Given the description of an element on the screen output the (x, y) to click on. 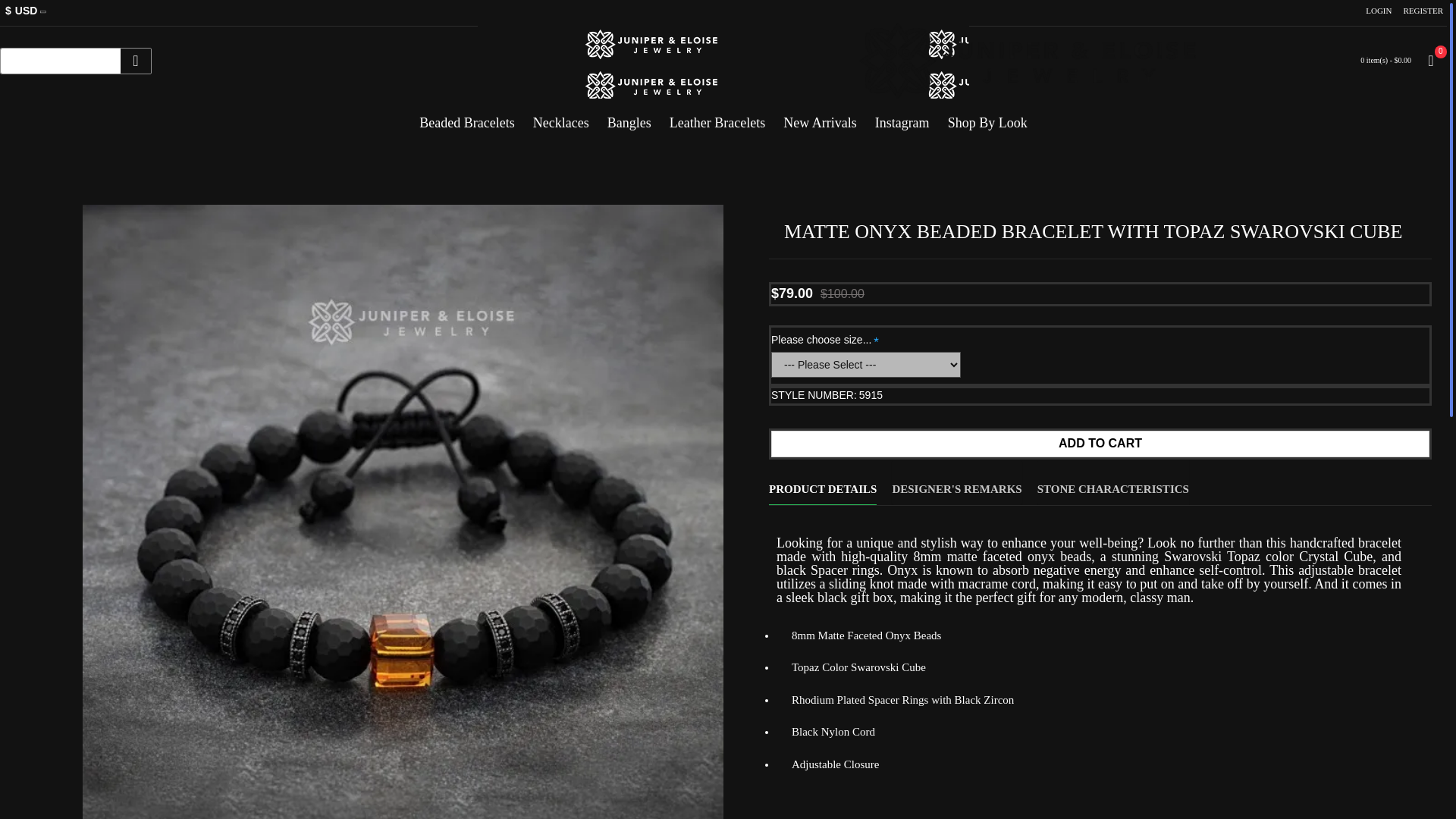
Beaded Bracelets (466, 117)
PRODUCT DETAILS (822, 481)
STONE CHARACTERISTICS (1112, 481)
DESIGNER'S REMARKS (956, 481)
New Arrivals (819, 117)
Leather Bracelets (717, 117)
Instagram (902, 117)
Necklaces (561, 117)
Bangles (629, 117)
ADD TO CART (1100, 443)
LOGIN (1377, 11)
REGISTER (1423, 11)
Shop By Look (987, 117)
